Given the description of an element on the screen output the (x, y) to click on. 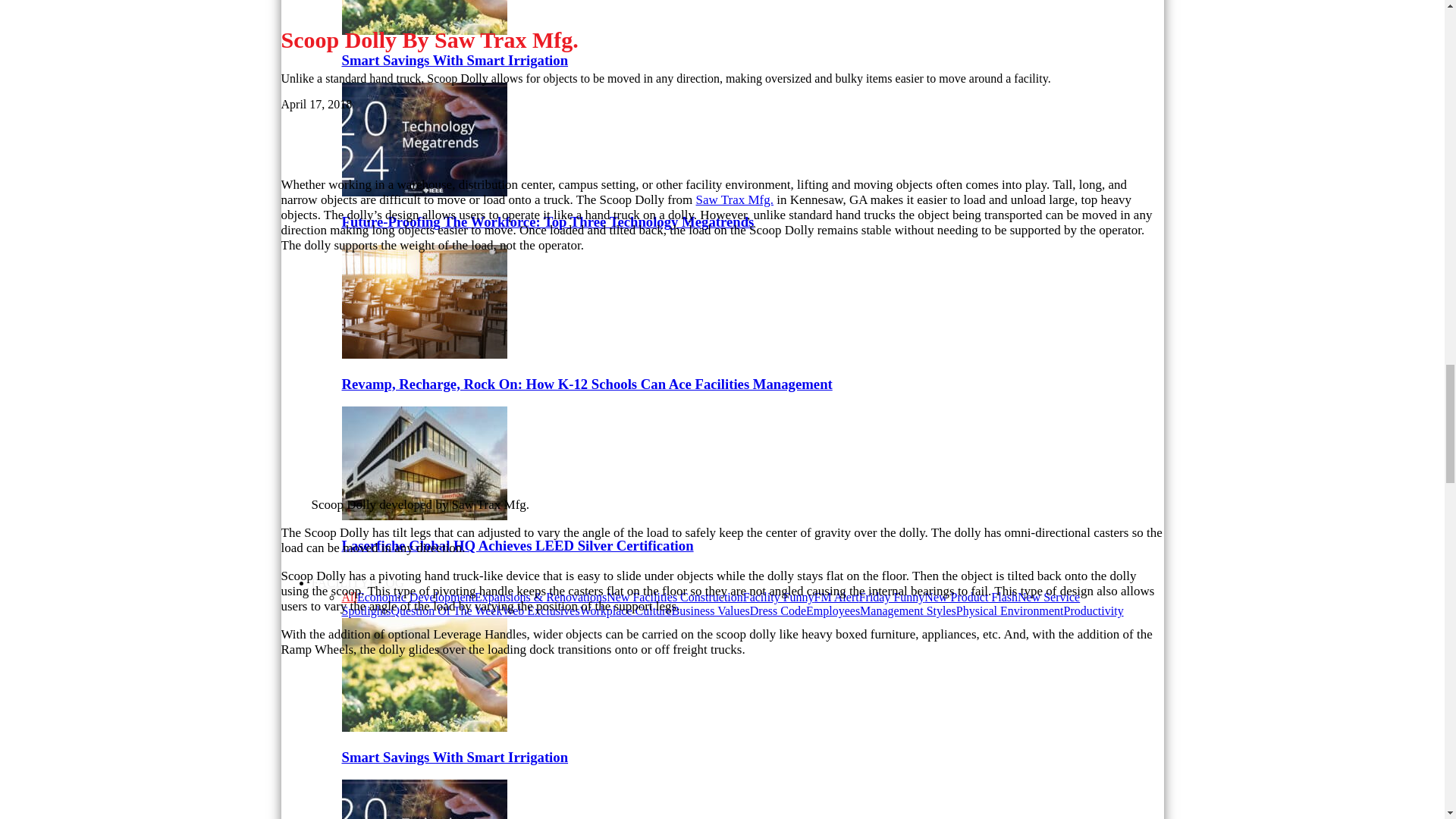
Smart Savings With Smart Irrigation (423, 30)
Smart Savings With Smart Irrigation (453, 59)
Smart Savings With Smart Irrigation (423, 17)
